Given the description of an element on the screen output the (x, y) to click on. 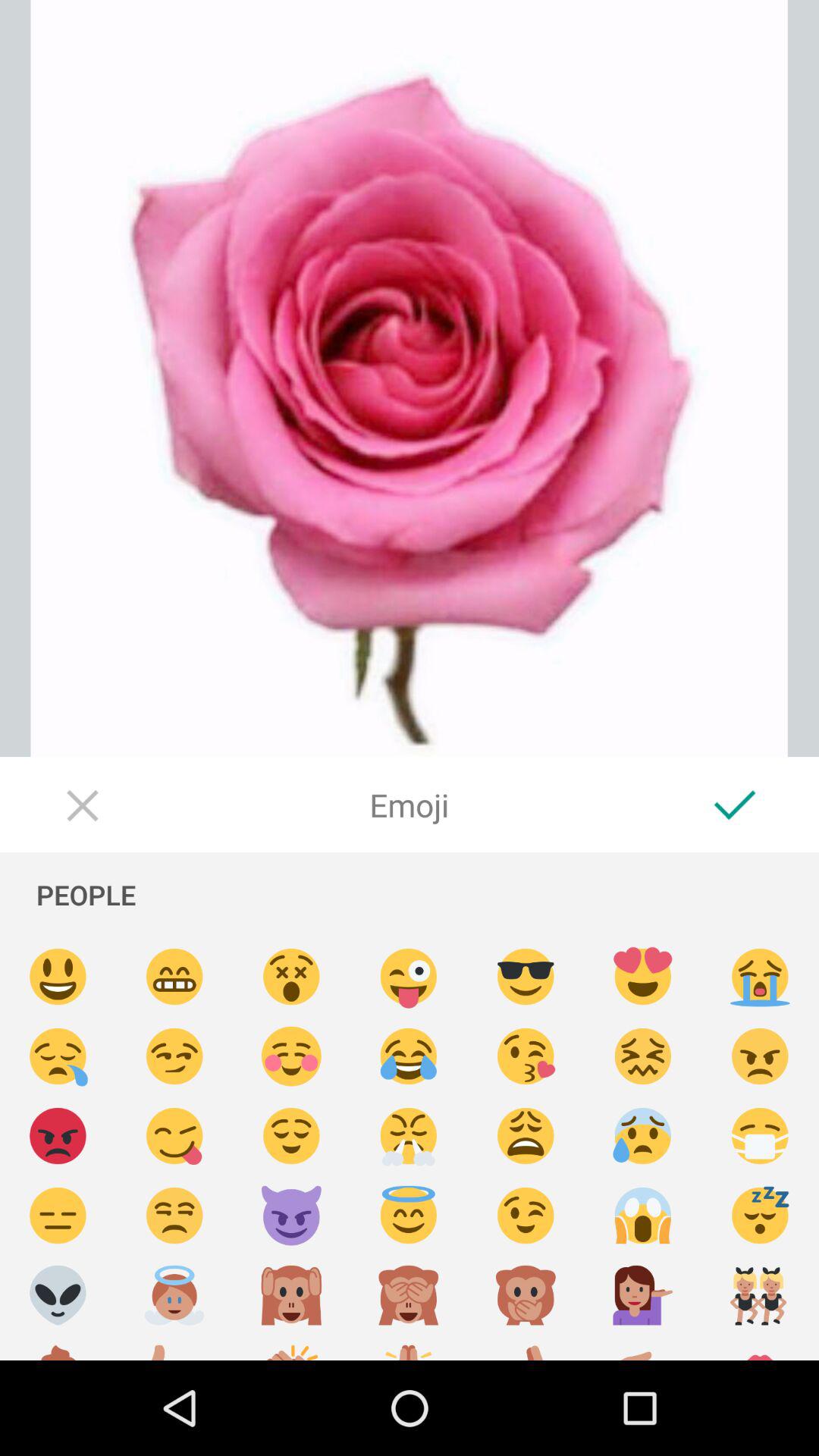
anger emoji (760, 1056)
